Given the description of an element on the screen output the (x, y) to click on. 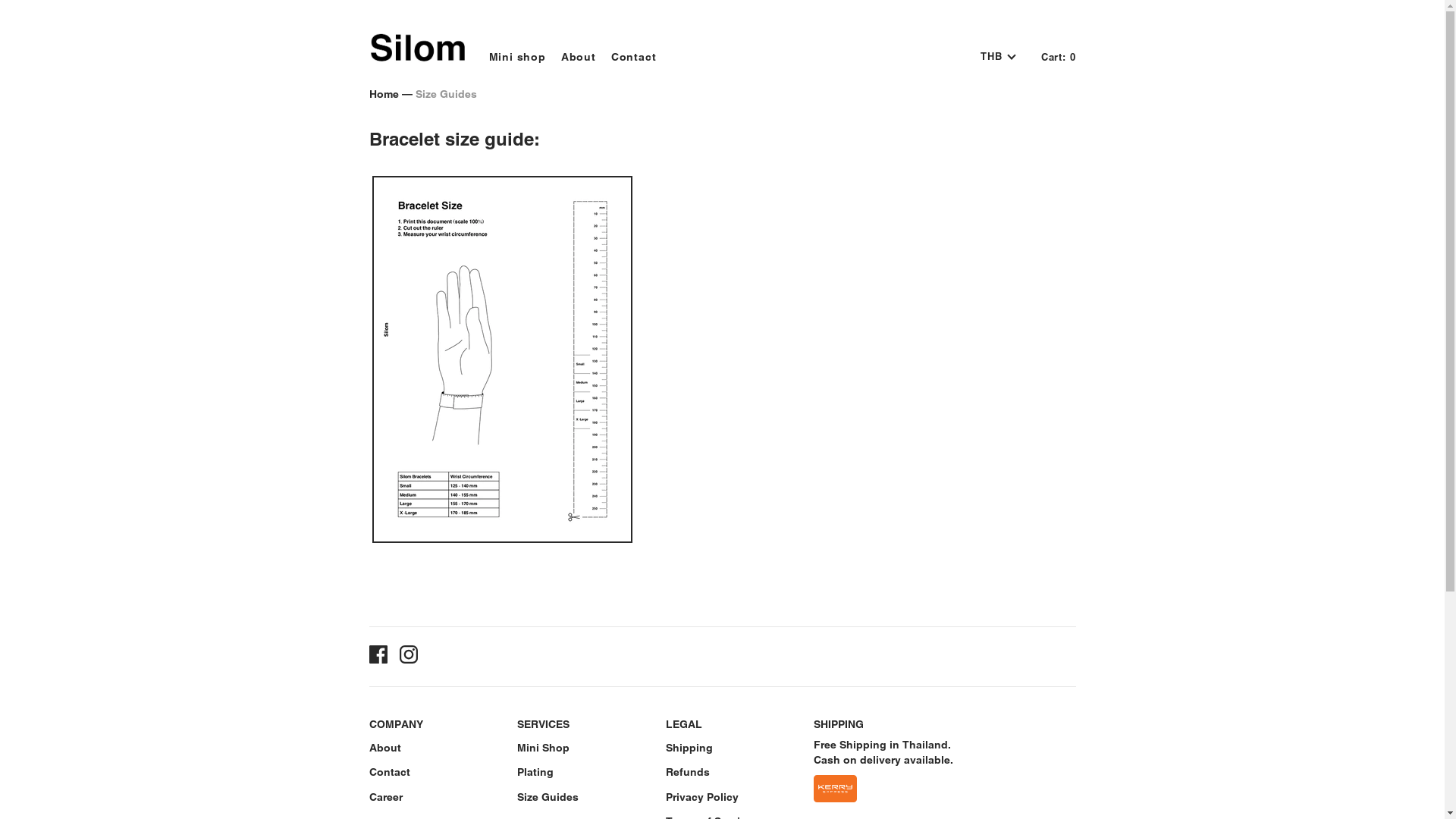
Mini shop Element type: text (509, 50)
Contact Element type: text (388, 771)
Contact Element type: text (626, 50)
About Element type: text (571, 50)
Mini Shop Element type: text (543, 747)
Career Element type: text (384, 796)
About Element type: text (384, 747)
Shipping Element type: text (688, 747)
Bracelet Size Element type: hover (501, 539)
Home Element type: text (383, 93)
Cart: 0 Element type: text (1058, 56)
Privacy Policy Element type: text (701, 796)
Facebook Element type: hover (377, 656)
Instagram Element type: hover (407, 656)
Size Guides Element type: text (547, 796)
Refunds Element type: text (687, 771)
Plating Element type: text (535, 771)
